Given the description of an element on the screen output the (x, y) to click on. 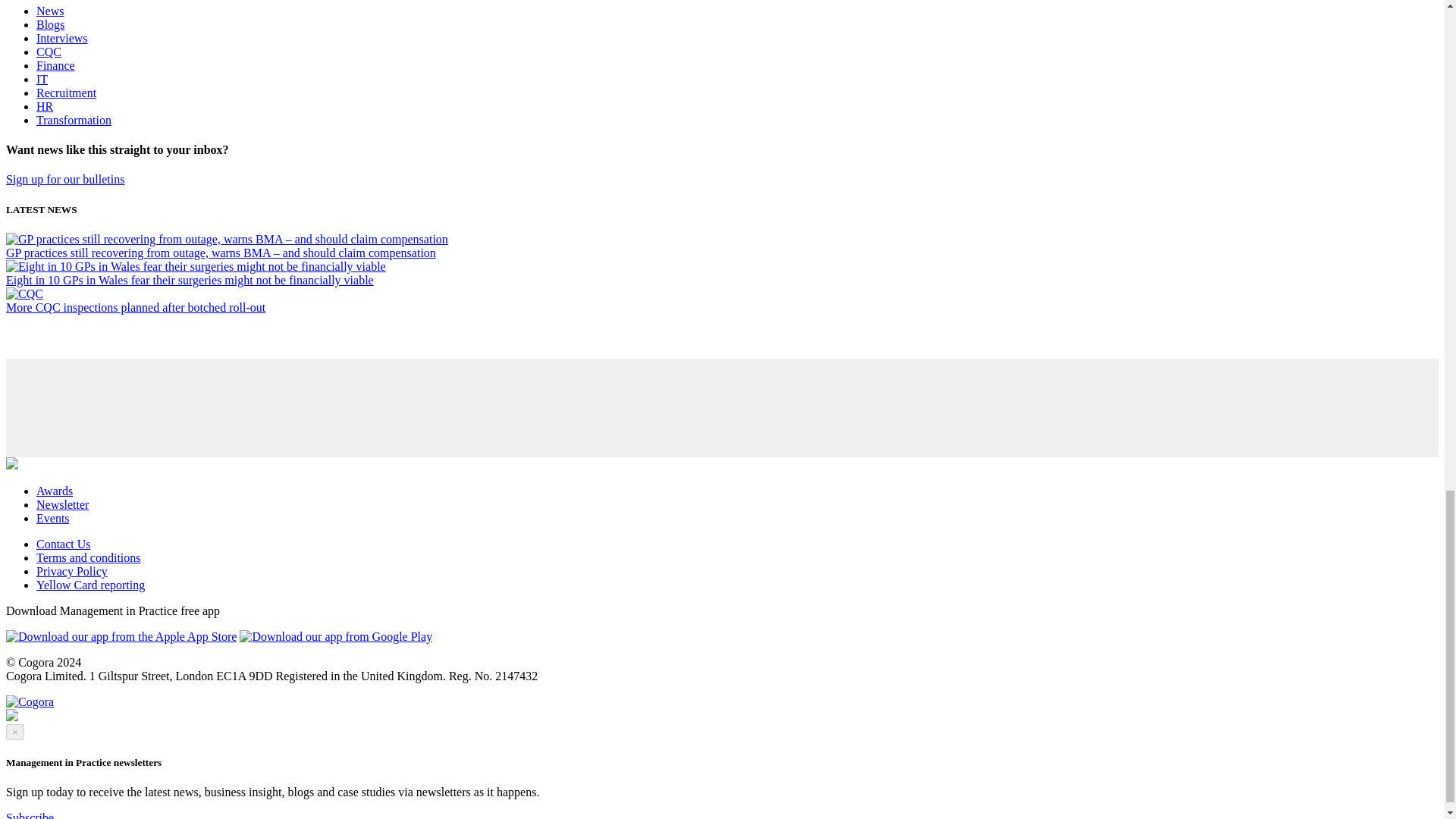
Download our app from Google Play (336, 636)
Download our app from the Apple App Store (120, 636)
Sign up for our bulletins (64, 178)
